Given the description of an element on the screen output the (x, y) to click on. 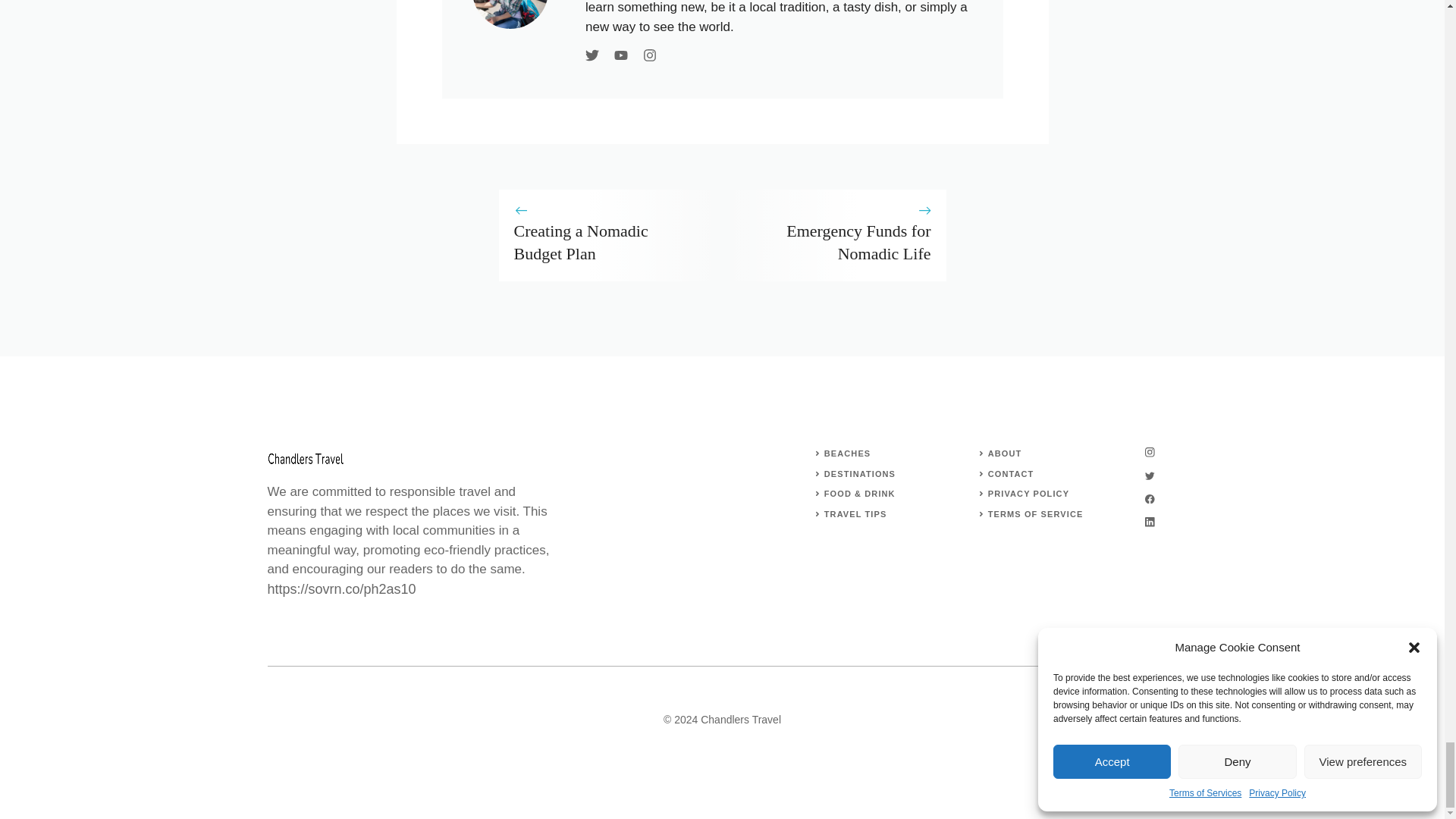
Creating a Nomadic Budget Plan (580, 241)
Kate (509, 14)
Emergency Funds for Nomadic Life (858, 241)
Chandlers Travel (304, 458)
BEACHES (847, 452)
DESTINATIONS (859, 473)
